Given the description of an element on the screen output the (x, y) to click on. 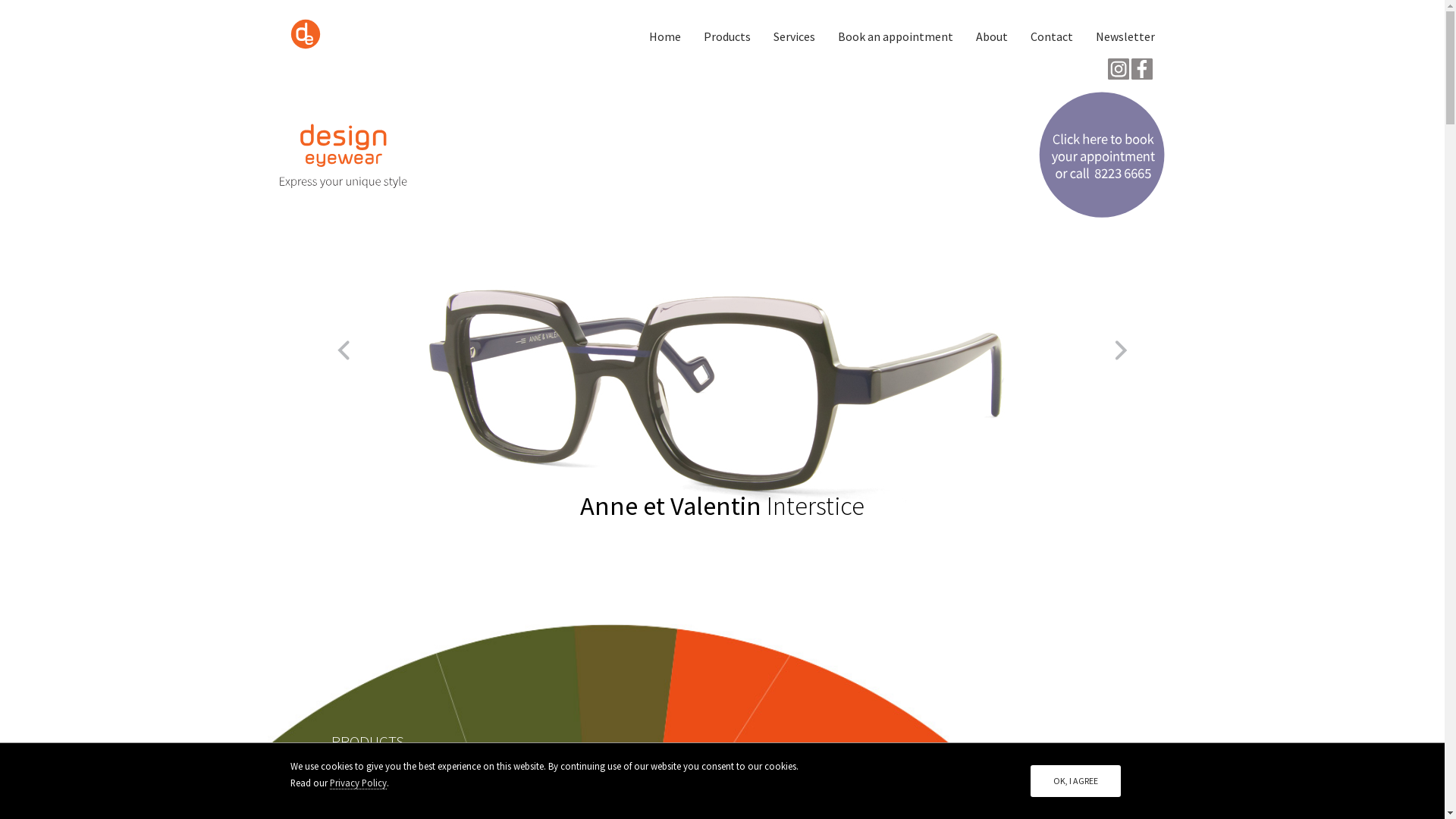
Previous Element type: text (332, 339)
Products Element type: text (726, 36)
Privacy Policy Element type: text (357, 782)
Services Element type: text (793, 36)
Home Element type: text (664, 36)
Newsletter Element type: text (1125, 36)
Contact Element type: text (1051, 36)
OK, I AGREE Element type: text (1074, 781)
Book an appointment Element type: text (895, 36)
Next Element type: text (1110, 339)
About Element type: text (991, 36)
